Given the description of an element on the screen output the (x, y) to click on. 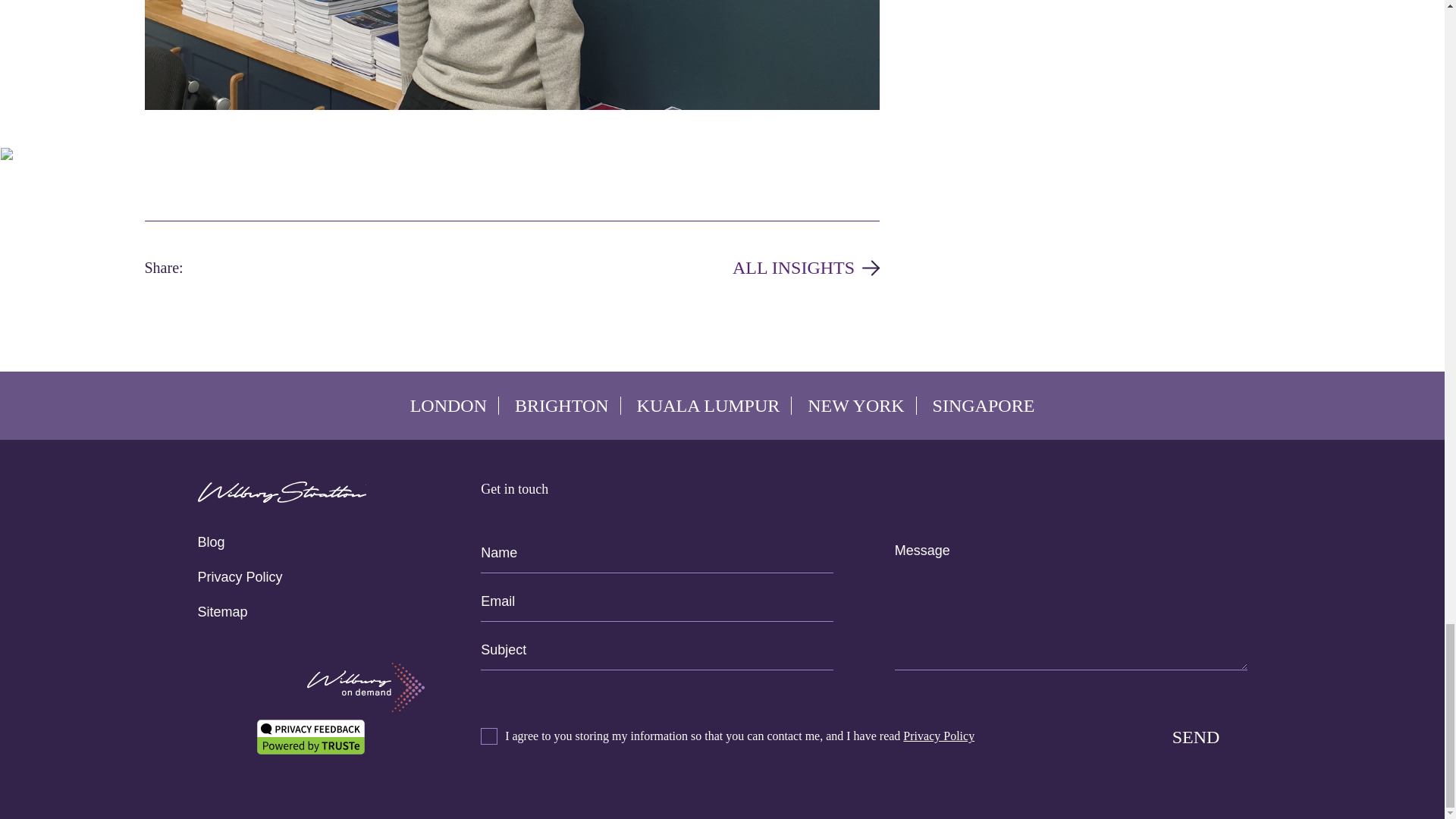
LONDON (448, 405)
BRIGHTON (561, 405)
Privacy Policy (239, 577)
Sitemap (221, 611)
SINGAPORE (984, 405)
Twitter (225, 268)
Linked In (278, 268)
Blog (210, 542)
Twitter (225, 268)
ALL INSIGHTS (805, 268)
